Given the description of an element on the screen output the (x, y) to click on. 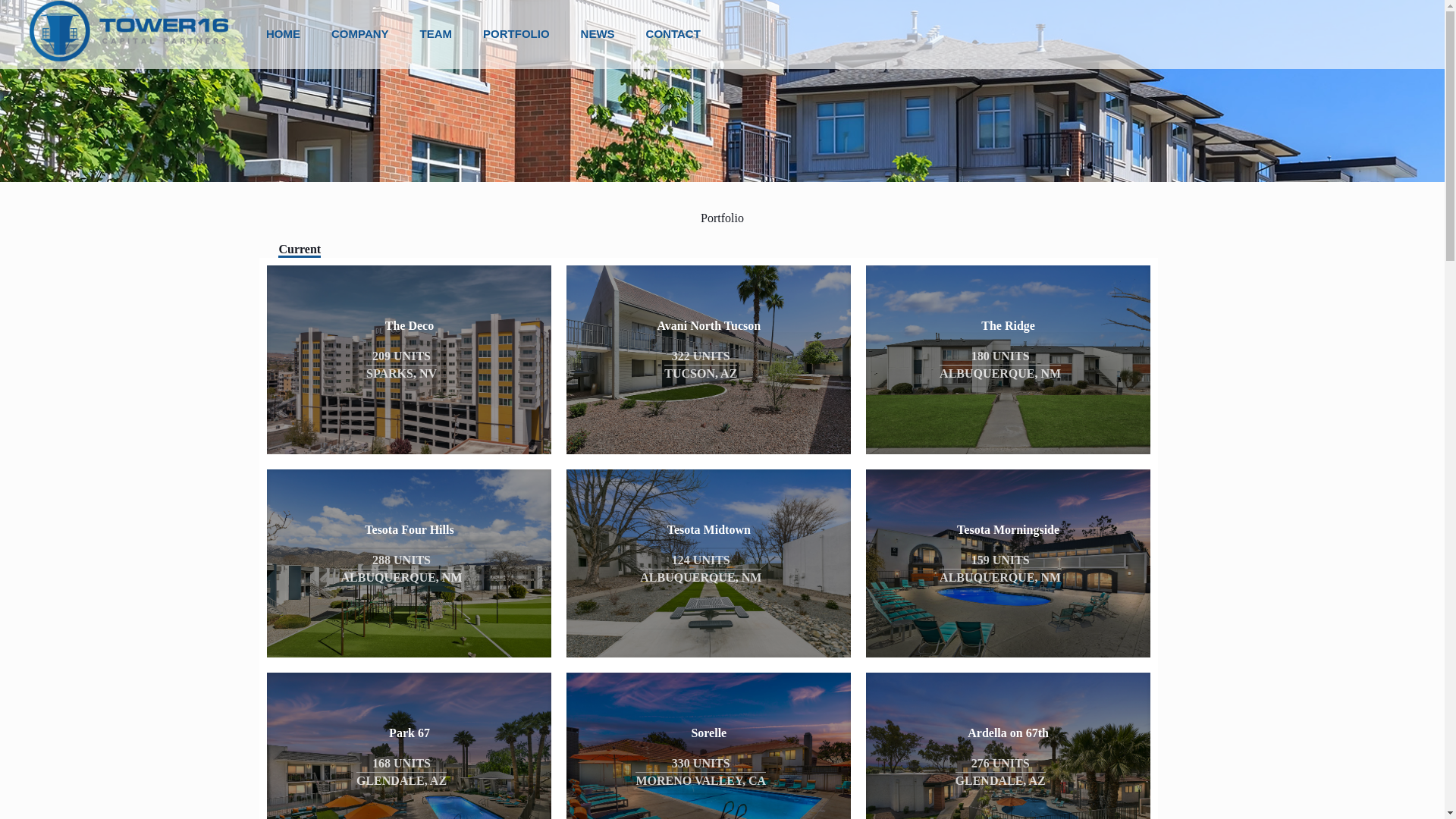
NEWS (598, 33)
322 UNITS (699, 356)
SPARKS, NV (401, 373)
288 UNITS (401, 560)
124 UNITS (700, 560)
TEAM (436, 33)
COMPANY (359, 33)
GLENDALE, AZ (401, 781)
Tower16 (128, 30)
Tesota Four Hills (408, 529)
Park 67 (408, 732)
159 UNITS (1000, 560)
HOME (282, 33)
CONTACT (673, 33)
ALBUQUERQUE, NM (401, 577)
